Given the description of an element on the screen output the (x, y) to click on. 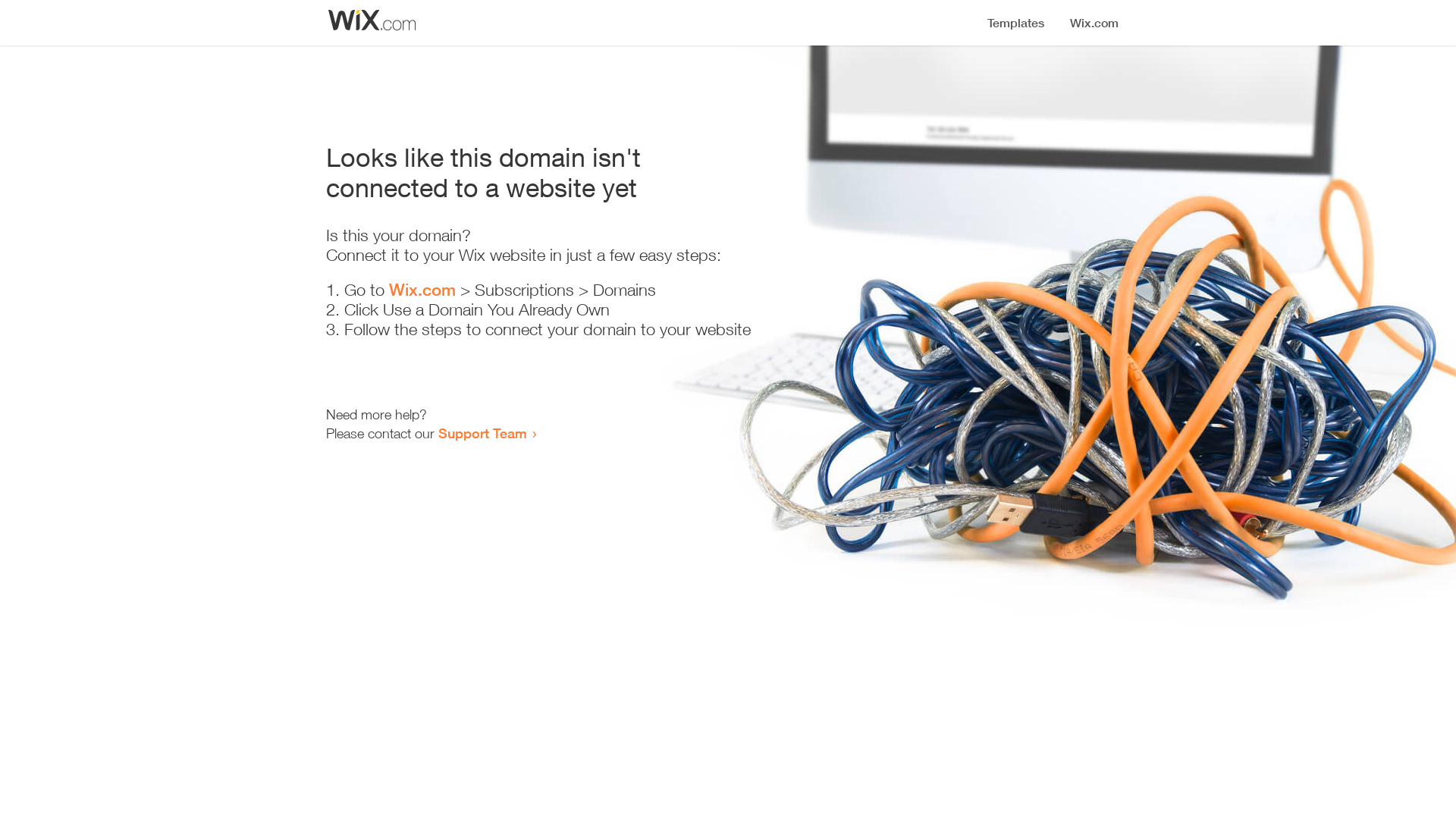
Wix.com Element type: text (422, 289)
Support Team Element type: text (482, 432)
